Given the description of an element on the screen output the (x, y) to click on. 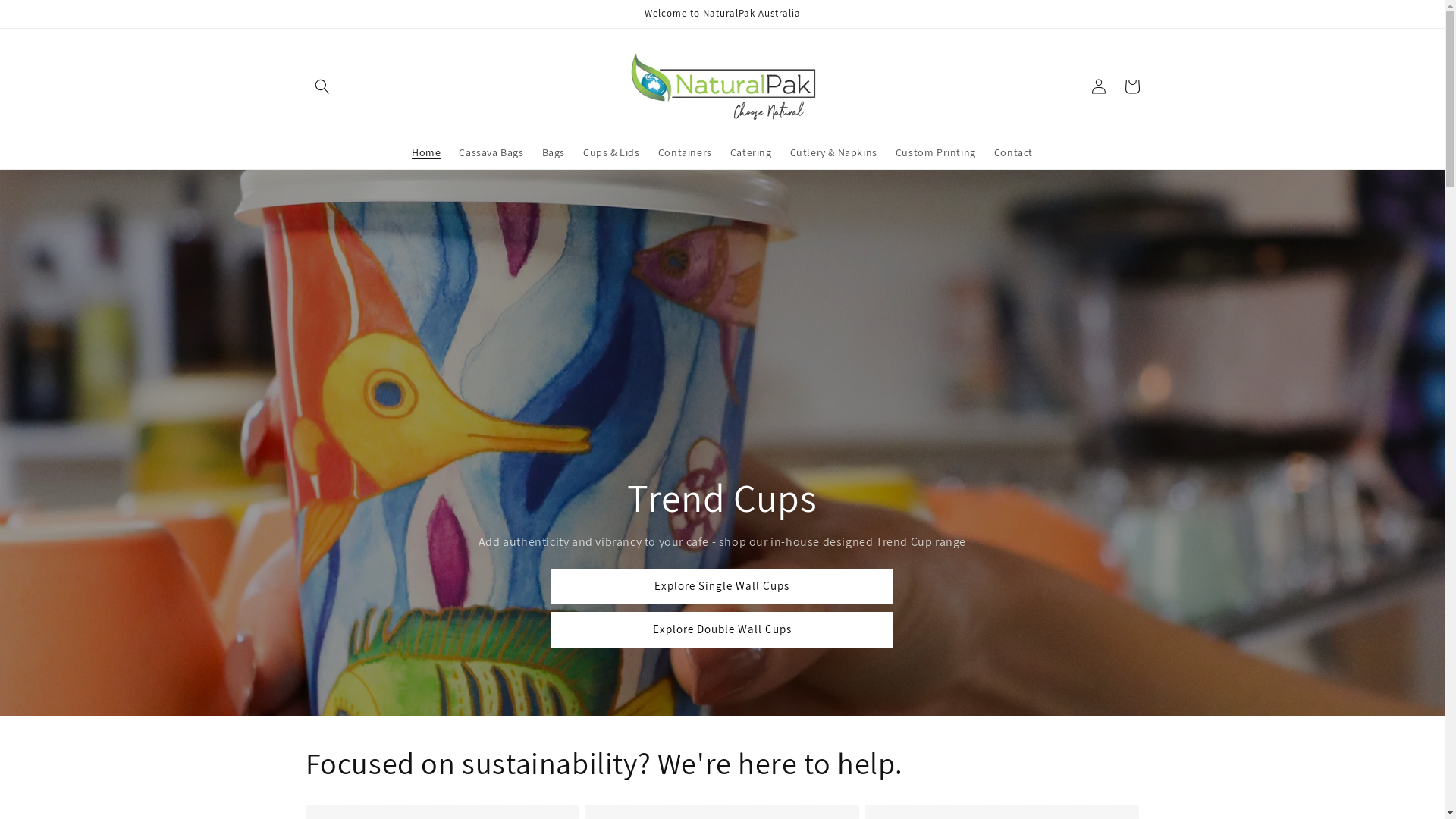
Containers Element type: text (685, 152)
Cups & Lids Element type: text (611, 152)
Bags Element type: text (553, 152)
Explore Single Wall Cups Element type: text (721, 586)
Contact Element type: text (1013, 152)
Home Element type: text (425, 152)
Cutlery & Napkins Element type: text (833, 152)
Custom Printing Element type: text (935, 152)
Catering Element type: text (751, 152)
Log in Element type: text (1097, 86)
Explore Double Wall Cups Element type: text (721, 629)
Cassava Bags Element type: text (490, 152)
Cart Element type: text (1131, 86)
